Given the description of an element on the screen output the (x, y) to click on. 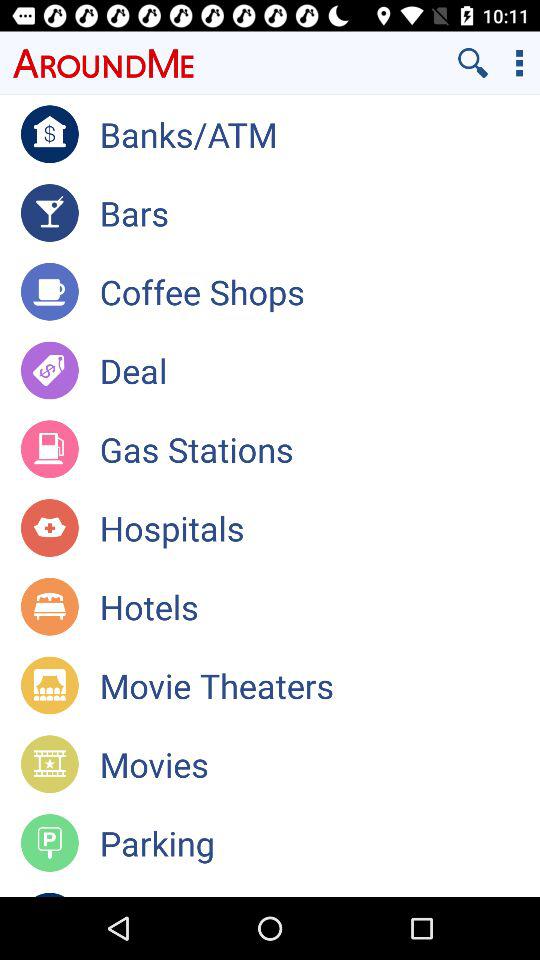
press the app below gas stations app (319, 527)
